Given the description of an element on the screen output the (x, y) to click on. 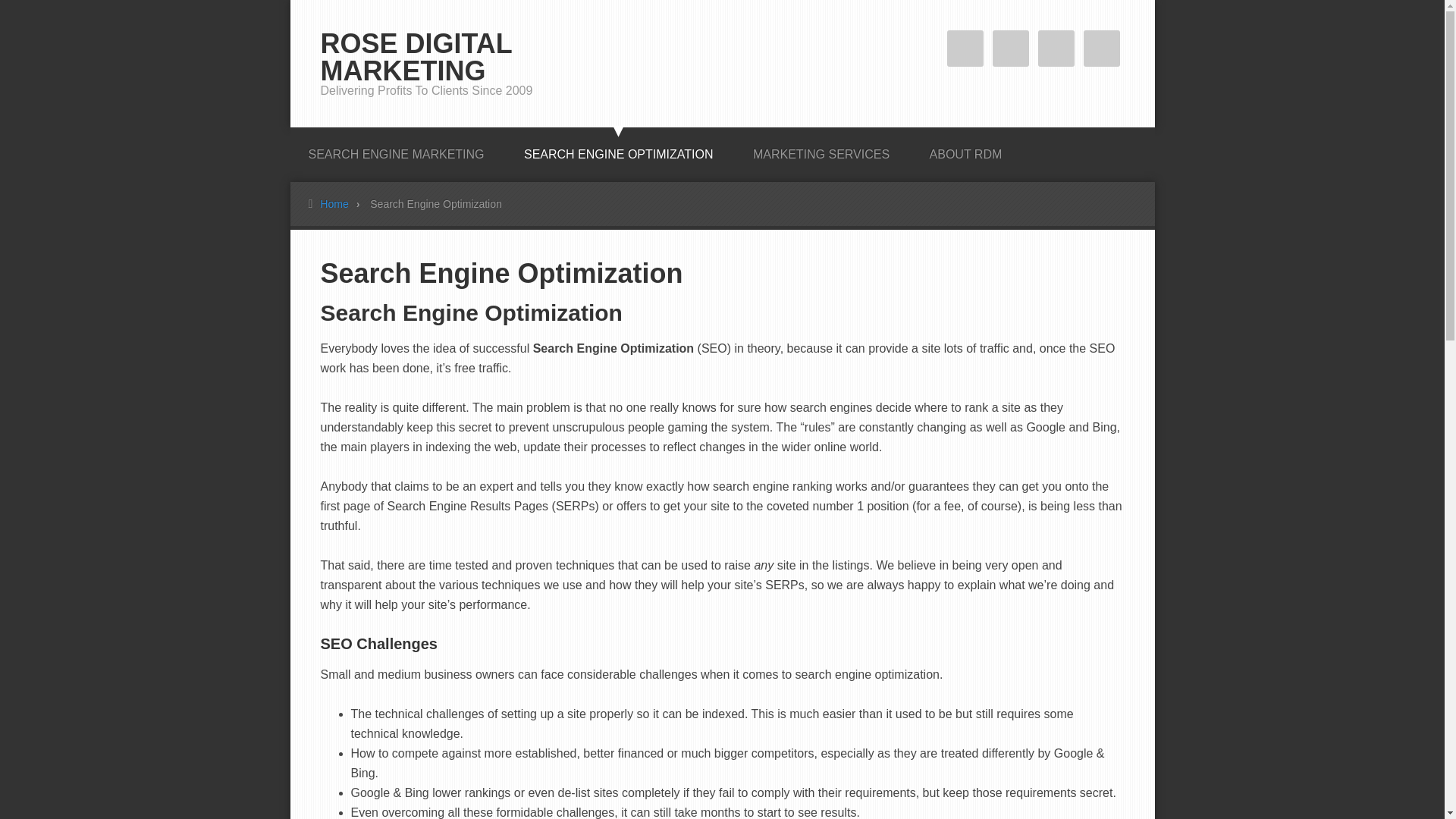
SEARCH ENGINE MARKETING (395, 149)
ROSE DIGITAL MARKETING (416, 56)
ABOUT RDM (965, 149)
MARKETING SERVICES (821, 149)
Home (343, 203)
SEARCH ENGINE OPTIMIZATION (618, 149)
